Given the description of an element on the screen output the (x, y) to click on. 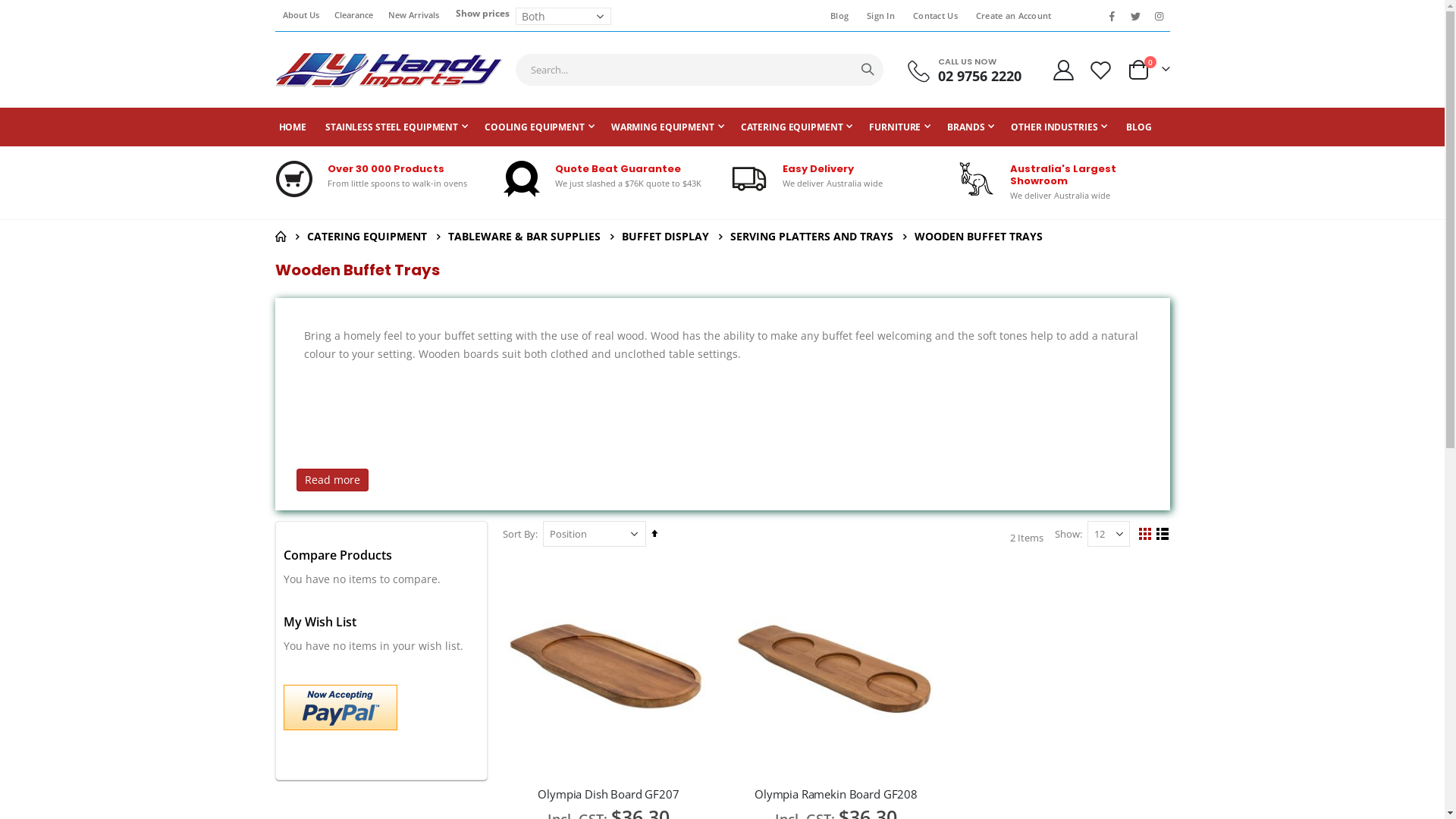
My Account Element type: hover (1063, 69)
Search Element type: hover (867, 69)
Handy Imports Element type: hover (388, 69)
FURNITURE Element type: text (899, 126)
Create an Account Element type: text (1010, 15)
Additional Options Element type: hover (340, 707)
Clearance Element type: text (352, 14)
Facebook Element type: hover (1112, 15)
Over 30 000 Products Element type: text (385, 168)
Wishlist Element type: hover (1100, 69)
BUFFET DISPLAY Element type: text (665, 236)
Australia'S Largest Showroom Element type: text (1063, 174)
Read more Element type: text (331, 479)
Contact Us Element type: text (931, 15)
New Arrivals Element type: text (413, 14)
HOME Element type: text (279, 236)
Twitter Element type: hover (1135, 15)
BRANDS Element type: text (970, 126)
Additional Options Element type: hover (340, 705)
TABLEWARE & BAR SUPPLIES Element type: text (523, 236)
Blog Element type: text (836, 15)
instagram Element type: hover (1159, 15)
CATERING EQUIPMENT Element type: text (366, 236)
Easy Delivery Element type: text (817, 168)
About Us Element type: text (300, 14)
Olympia Dish Board GF207 Element type: text (608, 793)
Sign In Element type: text (877, 15)
Quote Beat Guarantee Element type: text (617, 168)
02 9756 2220 Element type: text (979, 75)
Set Descending Direction Element type: text (653, 533)
Olympia Ramekin Board GF208 Element type: text (835, 793)
STAINLESS STEEL EQUIPMENT Element type: text (396, 126)
OTHER INDUSTRIES Element type: text (1058, 126)
COOLING EQUIPMENT Element type: text (539, 126)
SERVING PLATTERS AND TRAYS Element type: text (810, 236)
List Element type: text (1161, 534)
HOME Element type: text (292, 126)
WARMING EQUIPMENT Element type: text (667, 126)
CATERING EQUIPMENT Element type: text (796, 126)
BLOG Element type: text (1138, 126)
Cart
0 Element type: text (1148, 69)
